Given the description of an element on the screen output the (x, y) to click on. 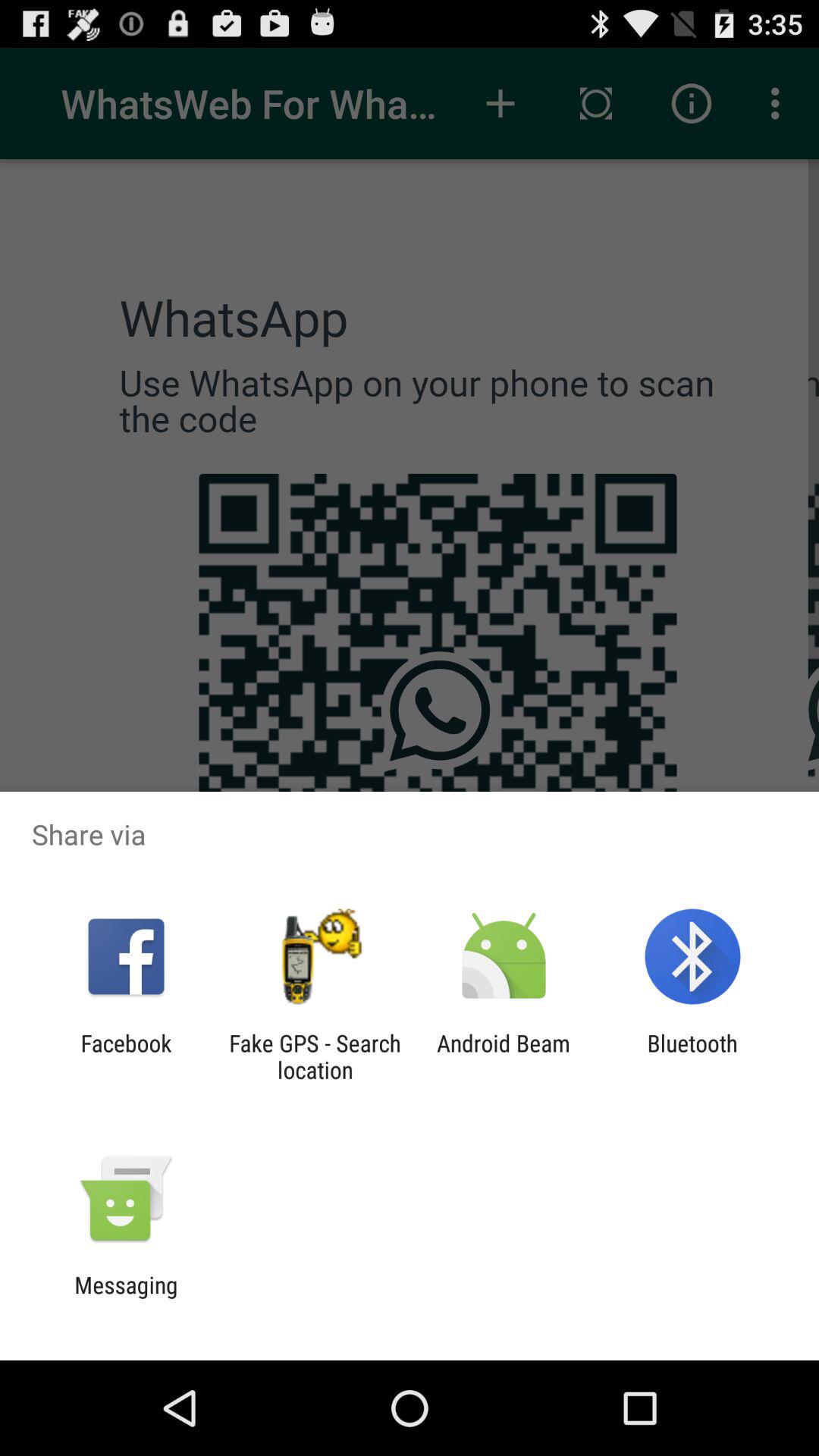
click app to the right of the fake gps search app (503, 1056)
